Given the description of an element on the screen output the (x, y) to click on. 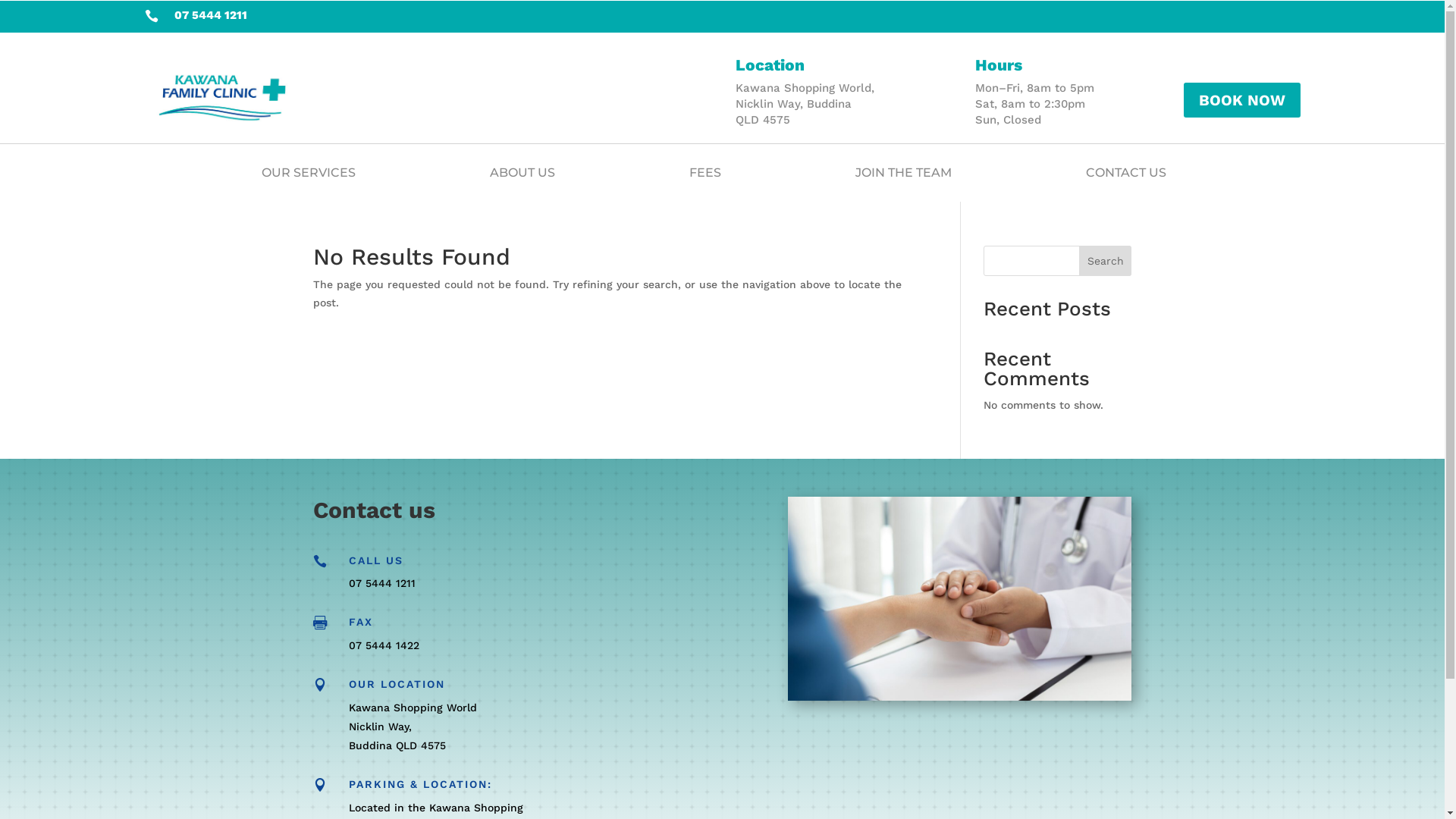
07 5444 1422 Element type: text (383, 645)
JOIN THE TEAM Element type: text (903, 172)
Search Element type: text (1105, 260)
medical-treatment-BCEPQ75 Element type: hover (959, 598)
CONTACT US Element type: text (1125, 172)
BOOK NOW Element type: text (1241, 99)
07 5444 1211 Element type: text (381, 583)
ABOUT US Element type: text (522, 172)
OUR SERVICES Element type: text (308, 172)
FEES Element type: text (705, 172)
